Given the description of an element on the screen output the (x, y) to click on. 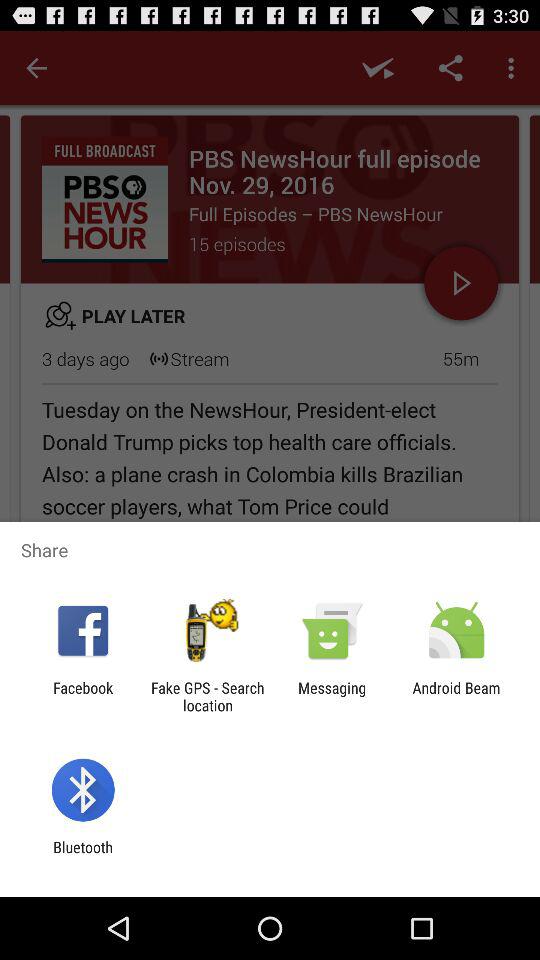
select the icon to the right of messaging (456, 696)
